Given the description of an element on the screen output the (x, y) to click on. 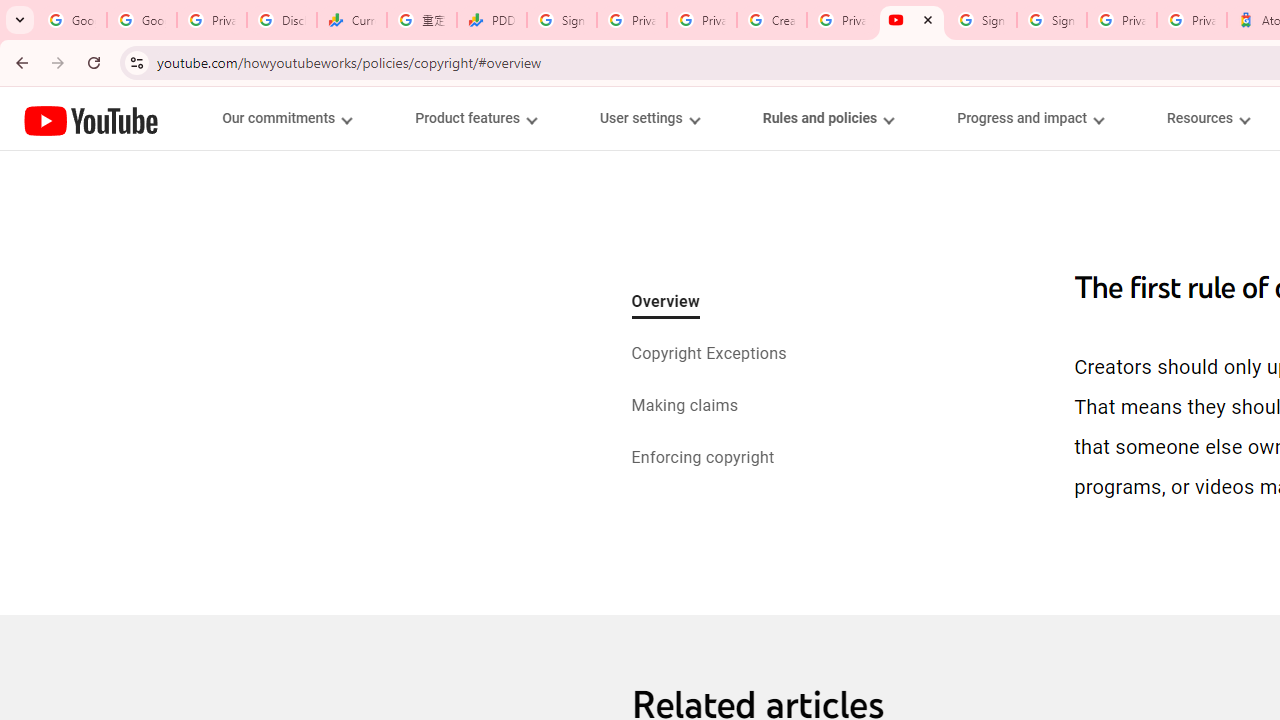
Our commitments menupopup (286, 118)
YouTube (91, 120)
Overview (665, 303)
Google Workspace Admin Community (72, 20)
JUMP TO CONTENT (209, 119)
Sign in - Google Accounts (982, 20)
Create your Google Account (772, 20)
User settings menupopup (648, 118)
YouTube Copyright Rules & Policies - How YouTube Works (911, 20)
